Given the description of an element on the screen output the (x, y) to click on. 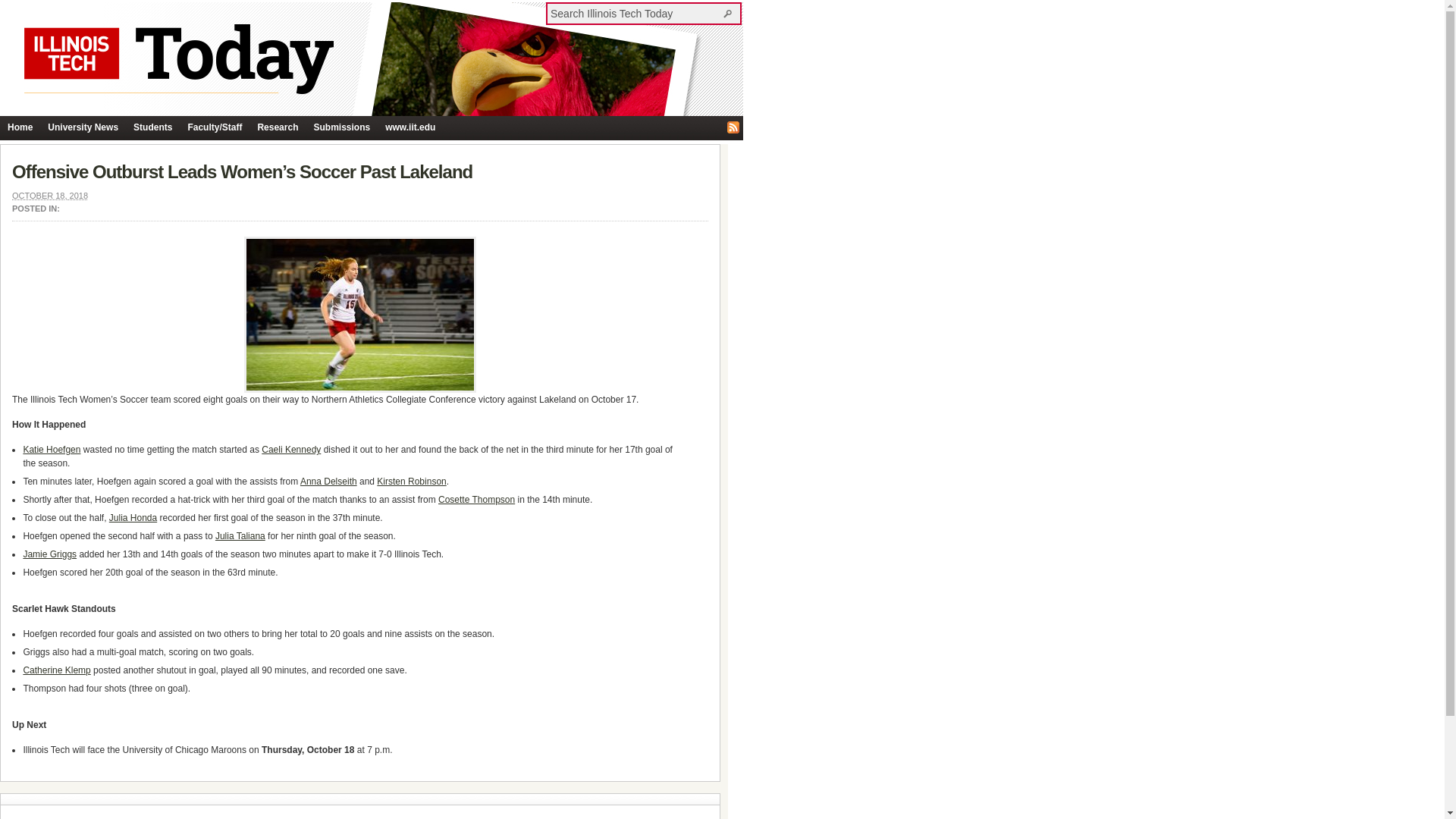
2018-10-18T08:10:54-05:00 (49, 194)
Search Illinois Tech Today (636, 13)
Kirsten Robinson (411, 480)
Search Illinois Tech Today (729, 13)
Anna Delseith (327, 480)
Caeli Kennedy (291, 449)
Julia Taliana (239, 535)
Catherine Klemp (56, 670)
Katie Hoefgen (51, 449)
Search (729, 13)
